Given the description of an element on the screen output the (x, y) to click on. 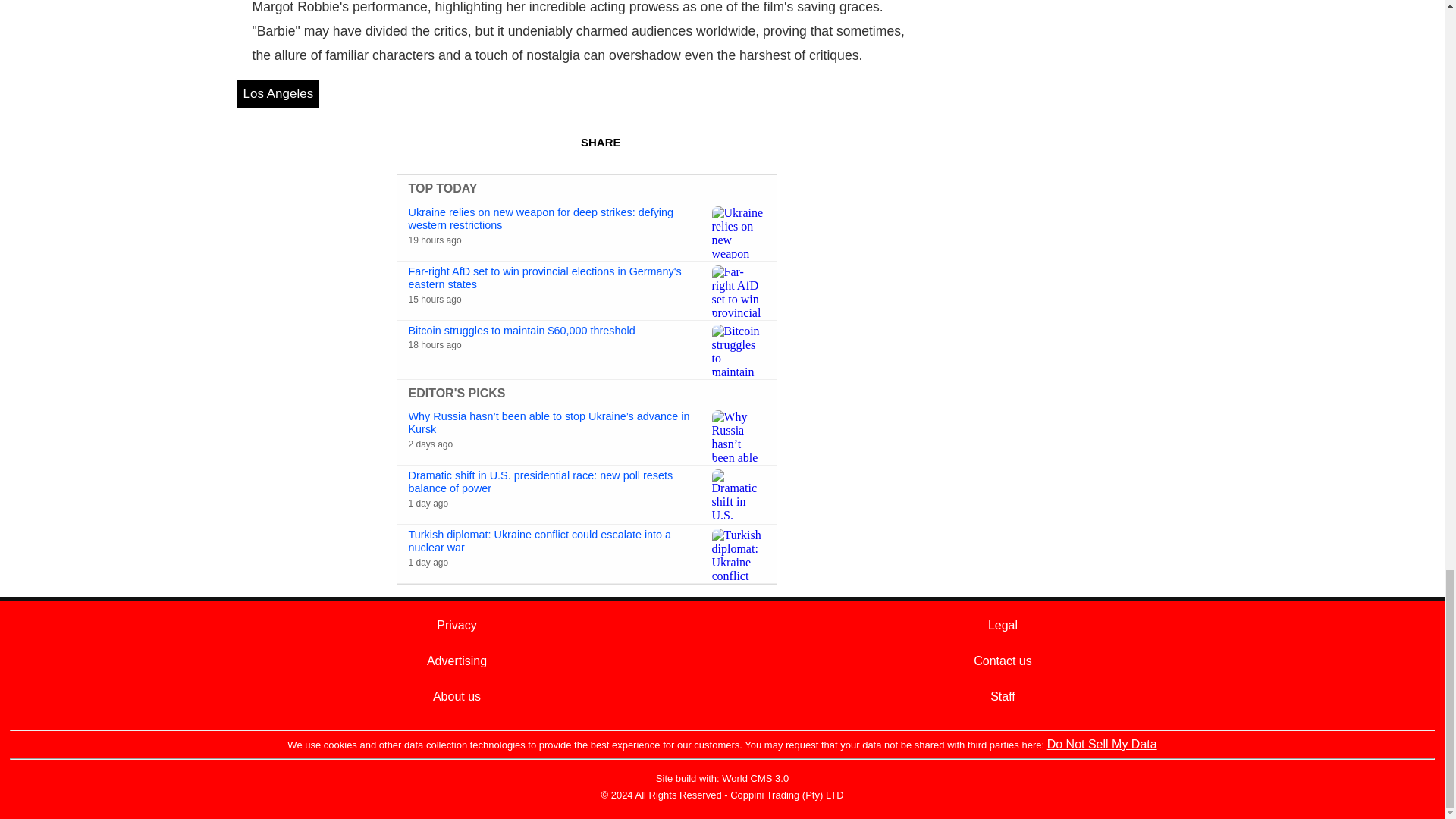
Privacy (456, 625)
Los Angeles (276, 93)
Legal (1002, 625)
